Given the description of an element on the screen output the (x, y) to click on. 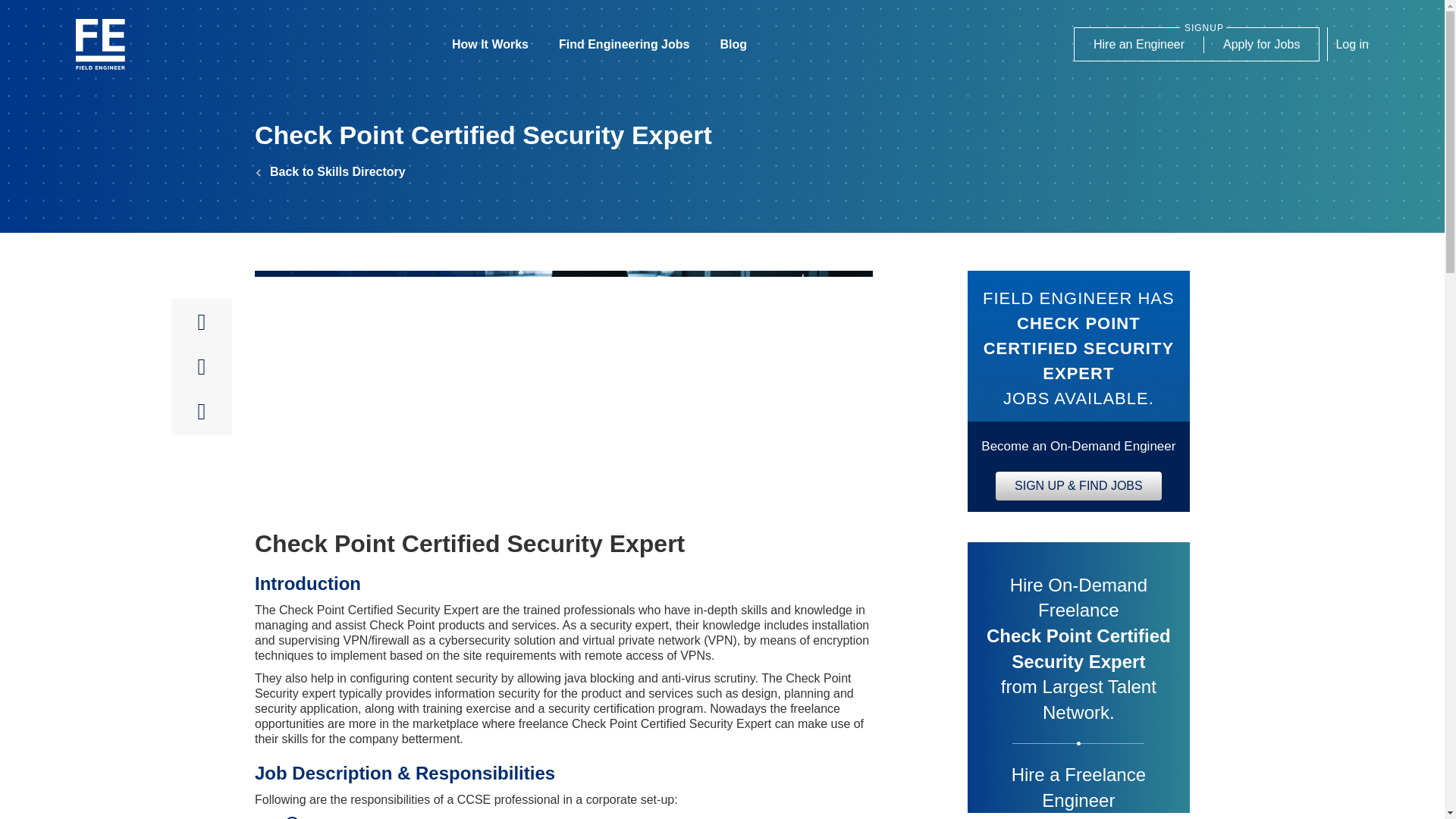
Back to Skills Directory (330, 171)
Log in (1347, 44)
Apply for Jobs (1261, 44)
Find Engineering Jobs (623, 44)
Hire an Engineer (1139, 44)
Blog (732, 44)
How It Works (489, 44)
